Given the description of an element on the screen output the (x, y) to click on. 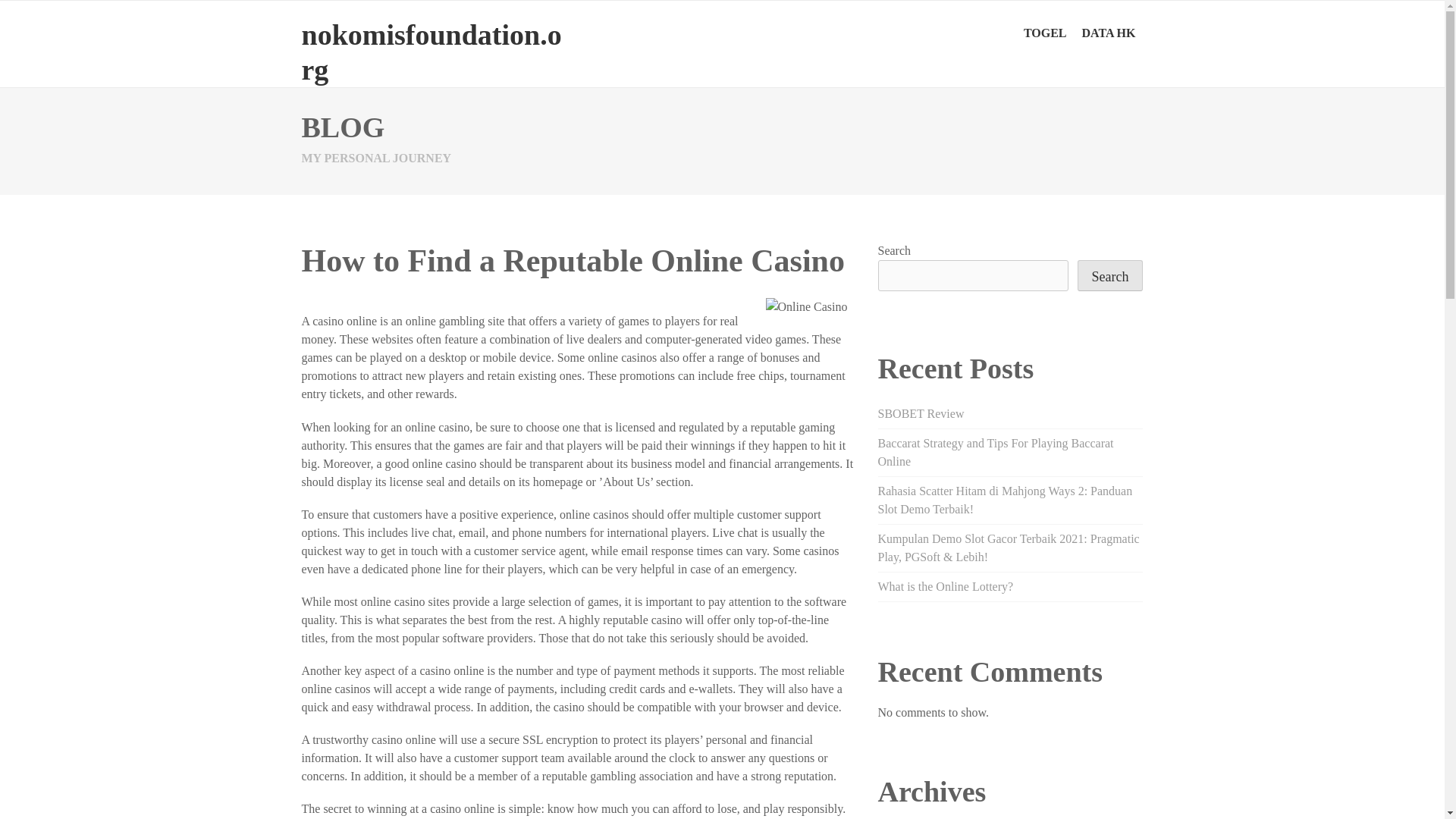
DATA HK (1108, 33)
TOGEL (1045, 33)
Search (1109, 275)
Baccarat Strategy and Tips For Playing Baccarat Online (995, 451)
SBOBET Review (920, 413)
What is the Online Lottery? (945, 585)
nokomisfoundation.org (431, 51)
